Given the description of an element on the screen output the (x, y) to click on. 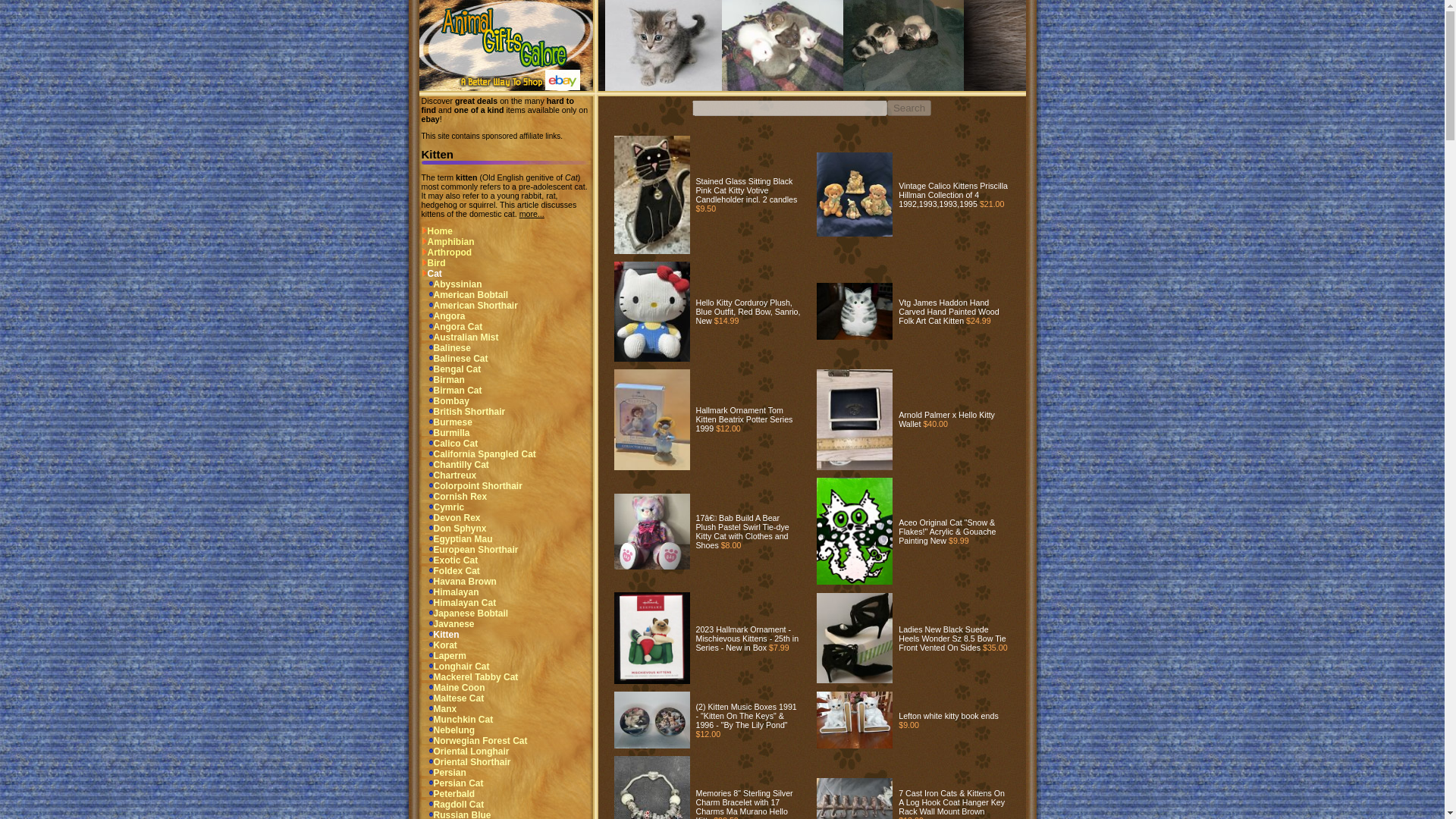
Bombay (445, 400)
Bird (433, 262)
Balinese (446, 347)
Calico Cat (450, 443)
Australian Mist (460, 337)
Burmese (446, 421)
American Bobtail (465, 294)
Birman (443, 379)
California Spangled Cat (478, 453)
A litter of Manx kittens (782, 45)
